Given the description of an element on the screen output the (x, y) to click on. 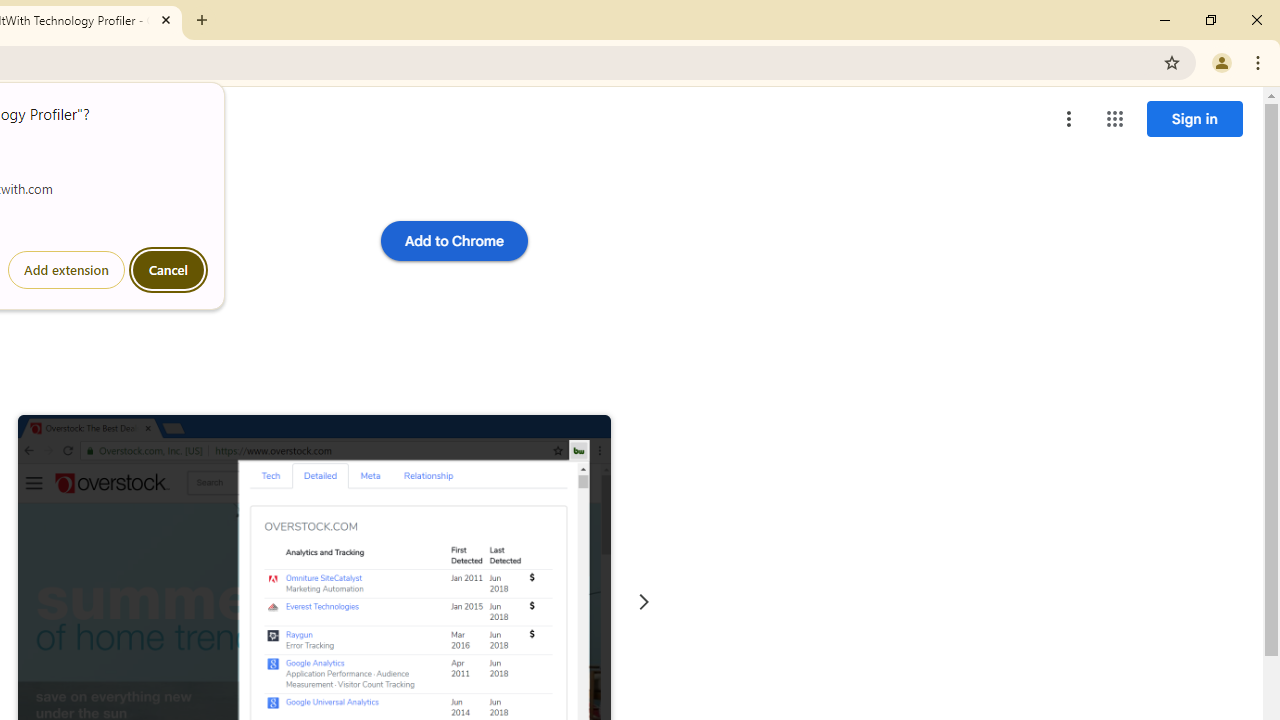
Cancel (168, 269)
Next slide (643, 601)
Add extension (66, 269)
Add to Chrome (453, 240)
More options menu (1069, 118)
